Given the description of an element on the screen output the (x, y) to click on. 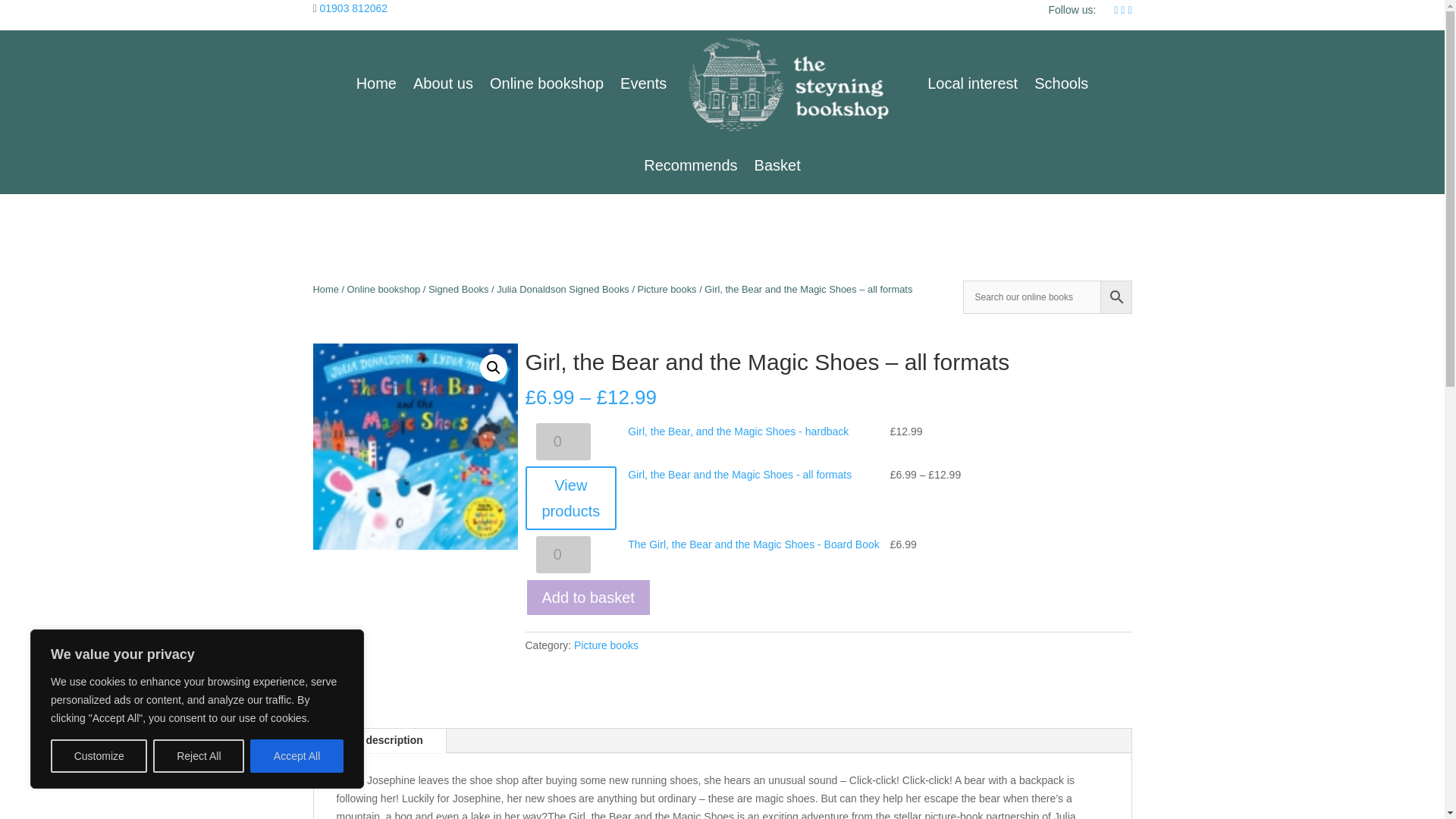
Signed Books (457, 288)
Online bookshop (383, 288)
Recommends (689, 165)
Online bookshop (546, 83)
Accept All (296, 756)
Reject All (198, 756)
01903 812062 (354, 8)
Home (325, 288)
Customize (98, 756)
The Girl, the Bear and the Magic Shoes - hardback (414, 446)
